Given the description of an element on the screen output the (x, y) to click on. 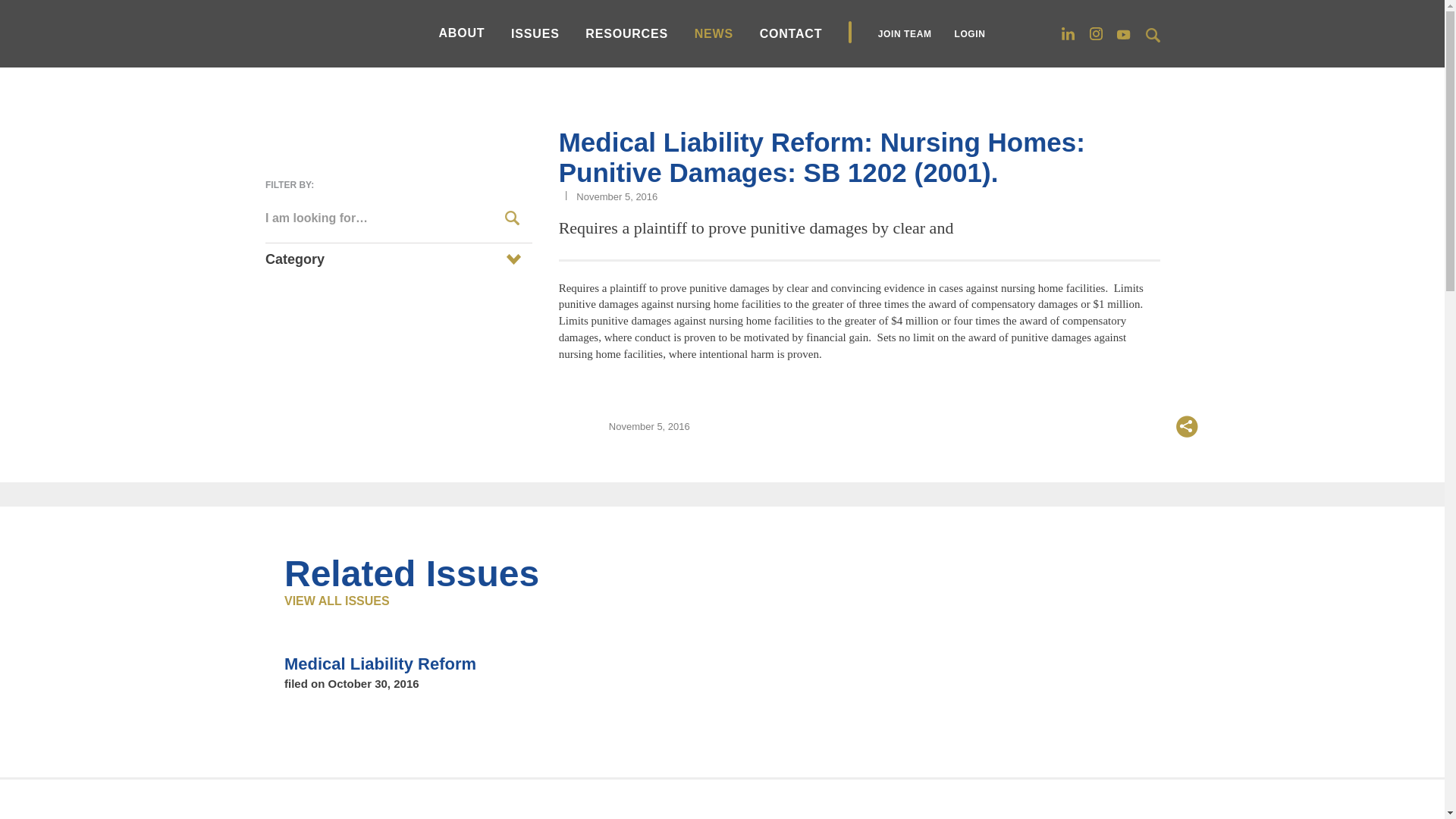
CONTACT (791, 33)
NEWS (713, 33)
RESOURCES (626, 33)
ABOUT (461, 32)
LOGIN (969, 33)
JOIN TEAM (904, 33)
ISSUES (535, 33)
